Given the description of an element on the screen output the (x, y) to click on. 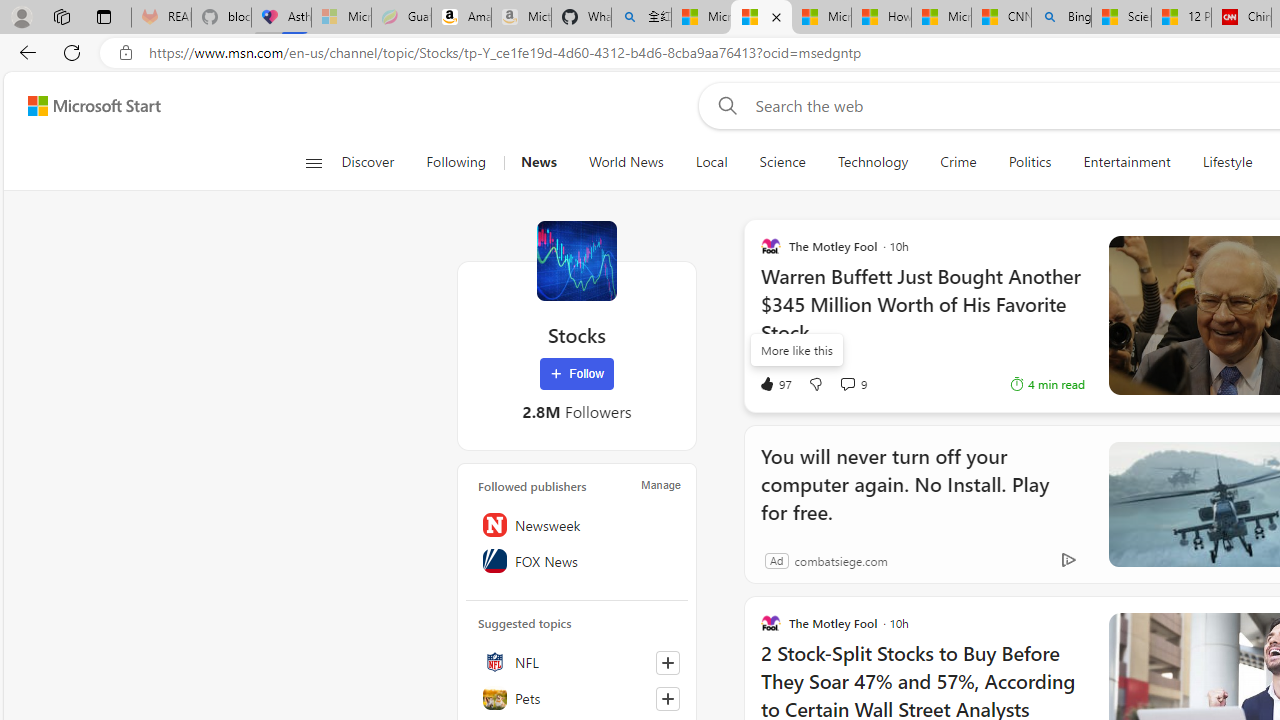
NFL (577, 661)
CNN - MSN (1000, 17)
